Given the description of an element on the screen output the (x, y) to click on. 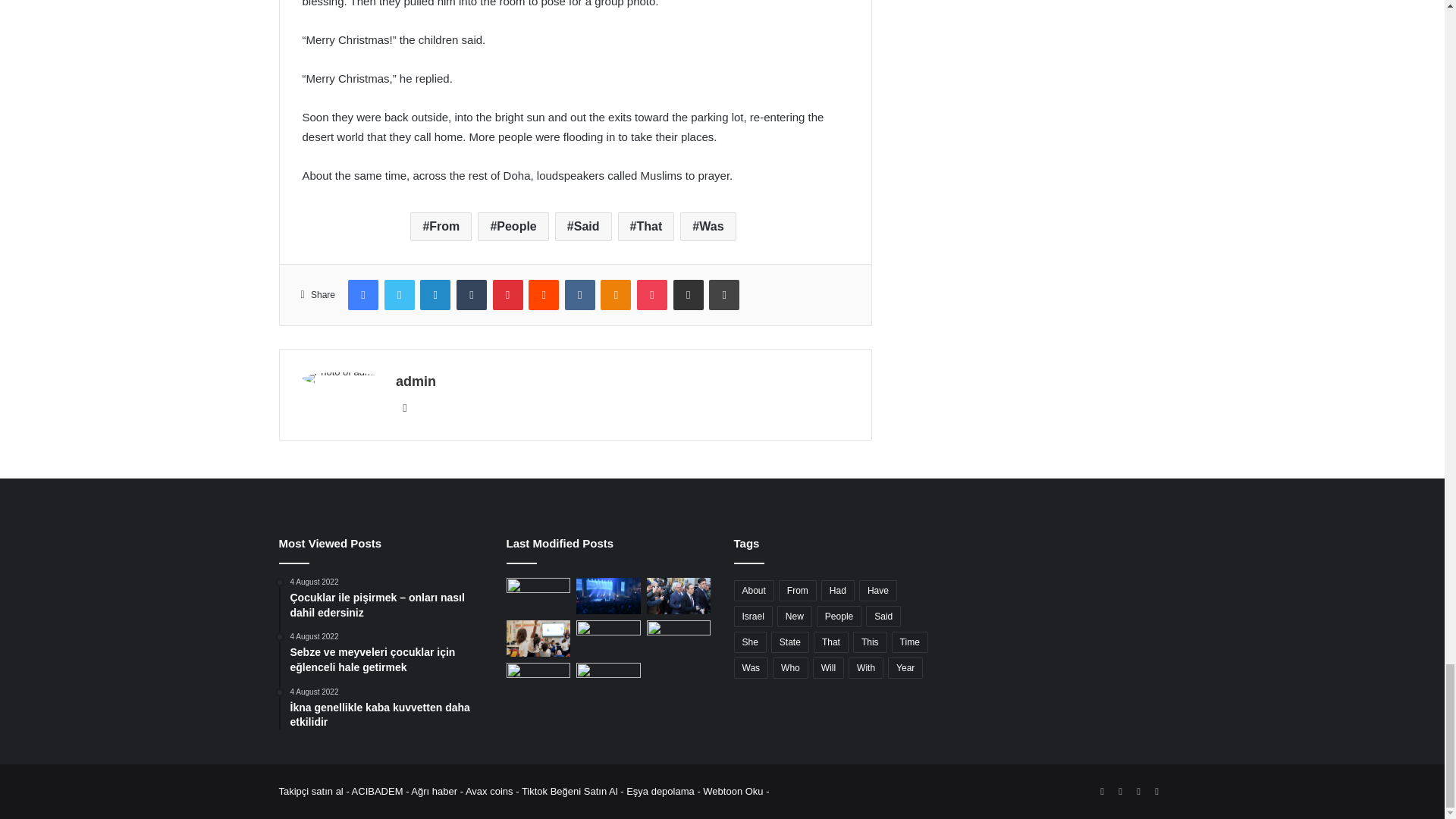
That (646, 226)
From (440, 226)
People (512, 226)
Said (582, 226)
Was (707, 226)
